Given the description of an element on the screen output the (x, y) to click on. 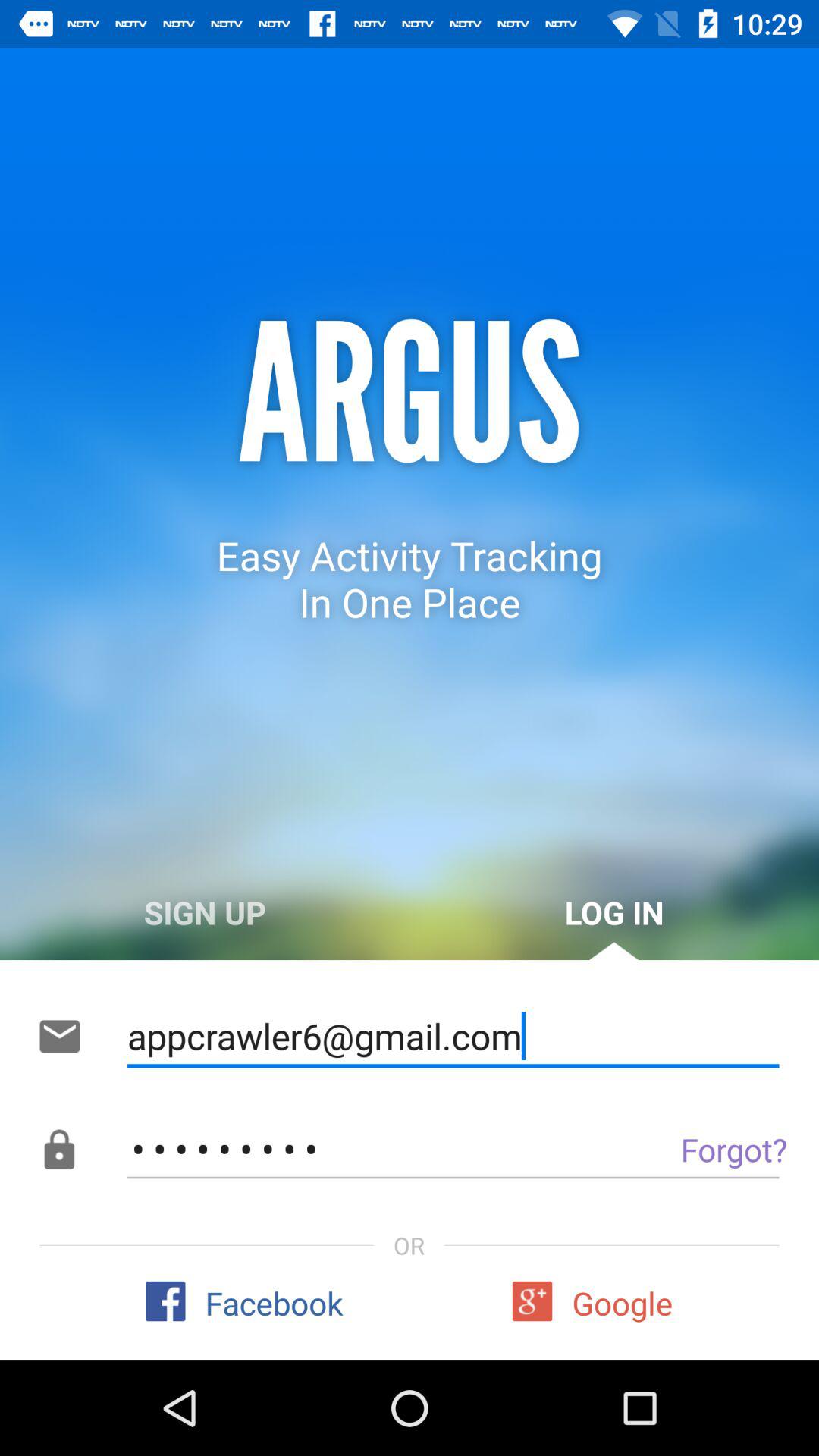
open the item to the right of sign up item (614, 912)
